Given the description of an element on the screen output the (x, y) to click on. 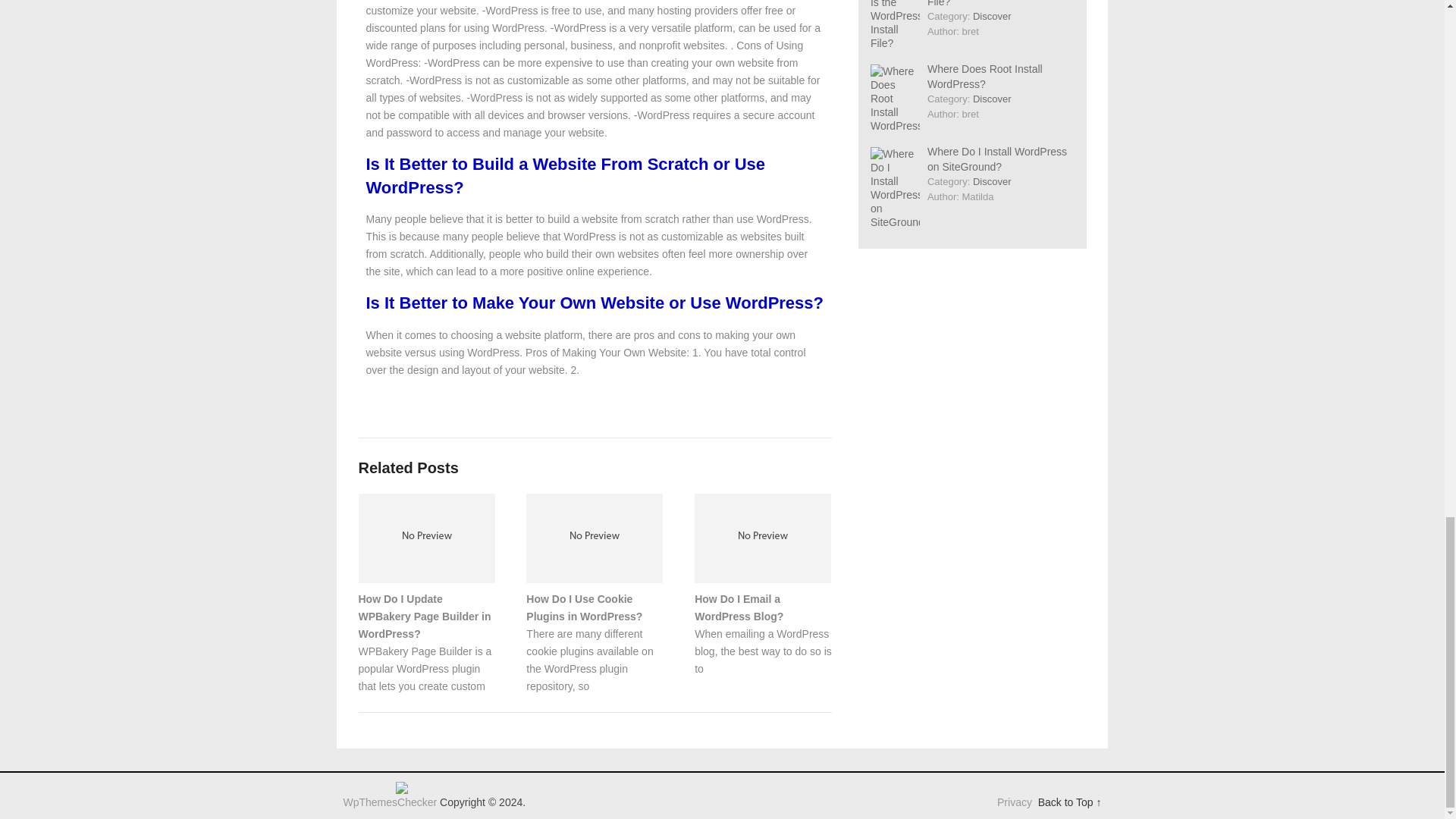
Is It Better to Make Your Own Website or Use WordPress? (594, 302)
How Do I Update WPBakery Page Builder in WordPress? (424, 615)
How Do I Email a WordPress Blog? (738, 607)
How Do I Use Cookie Plugins in WordPress? (583, 607)
How Do I Email a WordPress Blog? (738, 607)
How Do I Update WPBakery Page Builder in WordPress? (424, 615)
How Do I Use Cookie Plugins in WordPress? (583, 607)
